Given the description of an element on the screen output the (x, y) to click on. 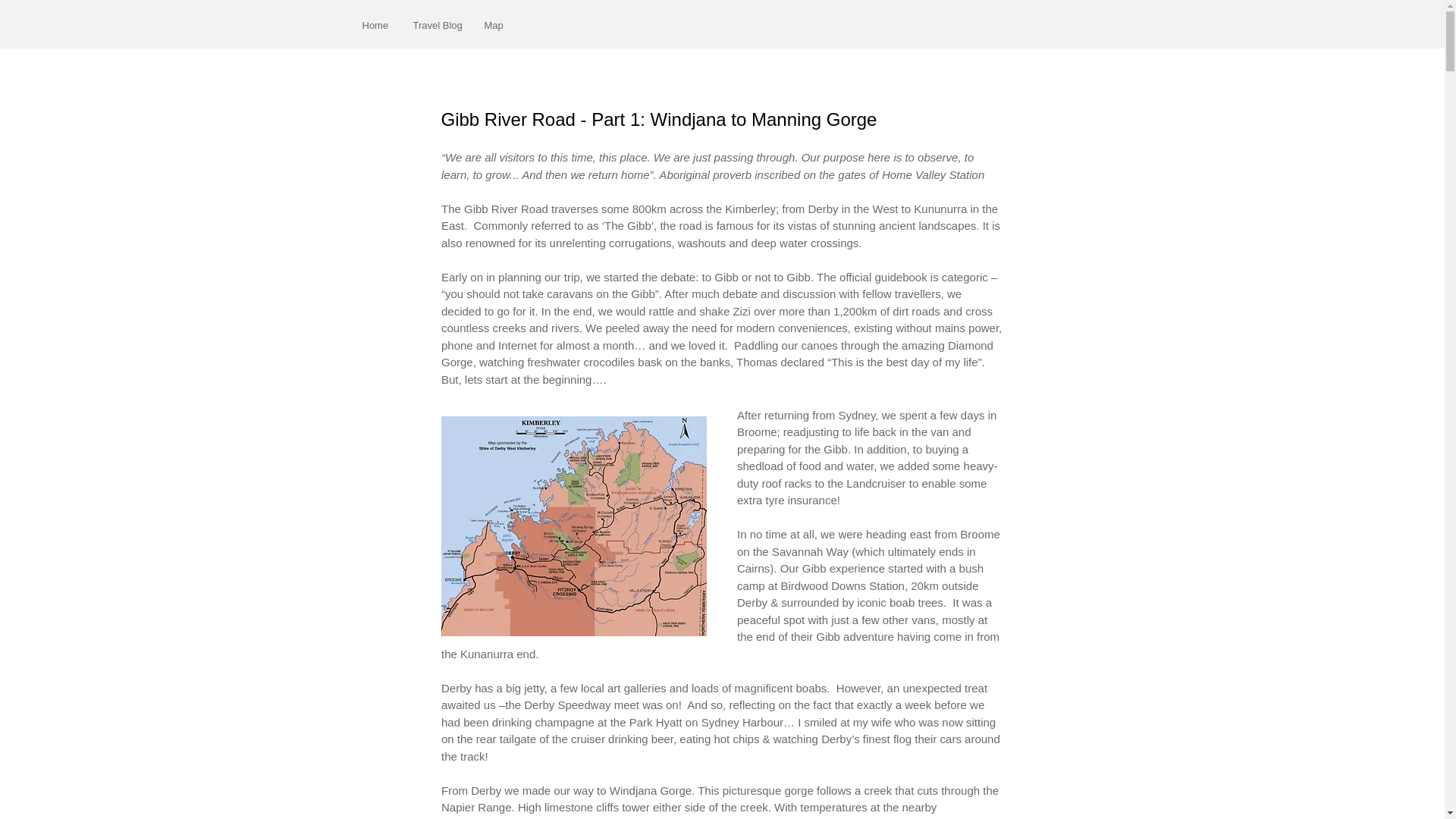
Travel Blog (437, 25)
Home (375, 25)
Map (494, 25)
